Given the description of an element on the screen output the (x, y) to click on. 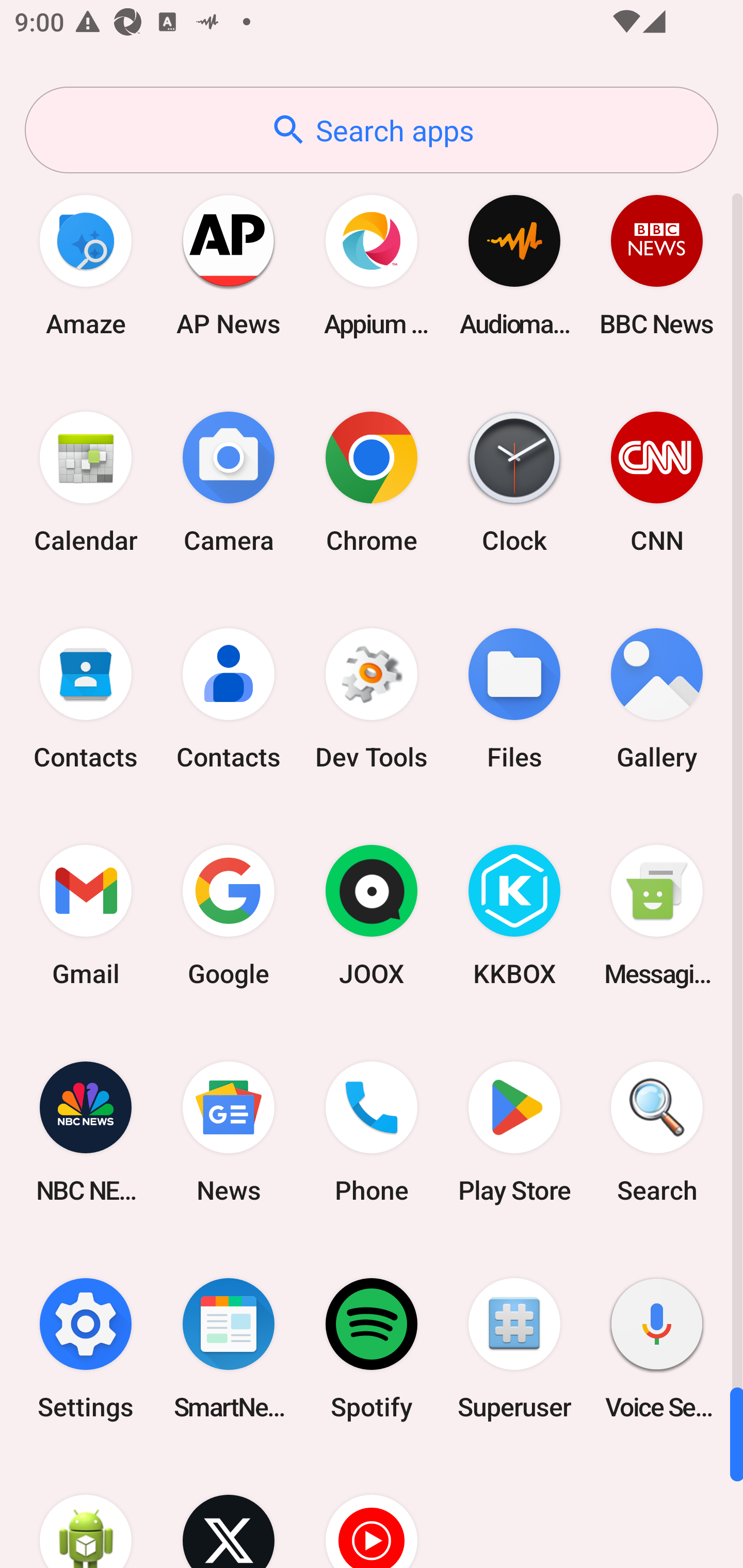
  Search apps (371, 130)
Amaze (85, 264)
AP News (228, 264)
Appium Settings (371, 264)
Audio­mack (514, 264)
BBC News (656, 264)
Calendar (85, 482)
Camera (228, 482)
Chrome (371, 482)
Clock (514, 482)
CNN (656, 482)
Contacts (85, 699)
Contacts (228, 699)
Dev Tools (371, 699)
Files (514, 699)
Gallery (656, 699)
Gmail (85, 915)
Google (228, 915)
JOOX (371, 915)
KKBOX (514, 915)
Messaging (656, 915)
NBC NEWS (85, 1131)
News (228, 1131)
Phone (371, 1131)
Play Store (514, 1131)
Search (656, 1131)
Settings (85, 1348)
SmartNews (228, 1348)
Spotify (371, 1348)
Superuser (514, 1348)
Voice Search (656, 1348)
